Given the description of an element on the screen output the (x, y) to click on. 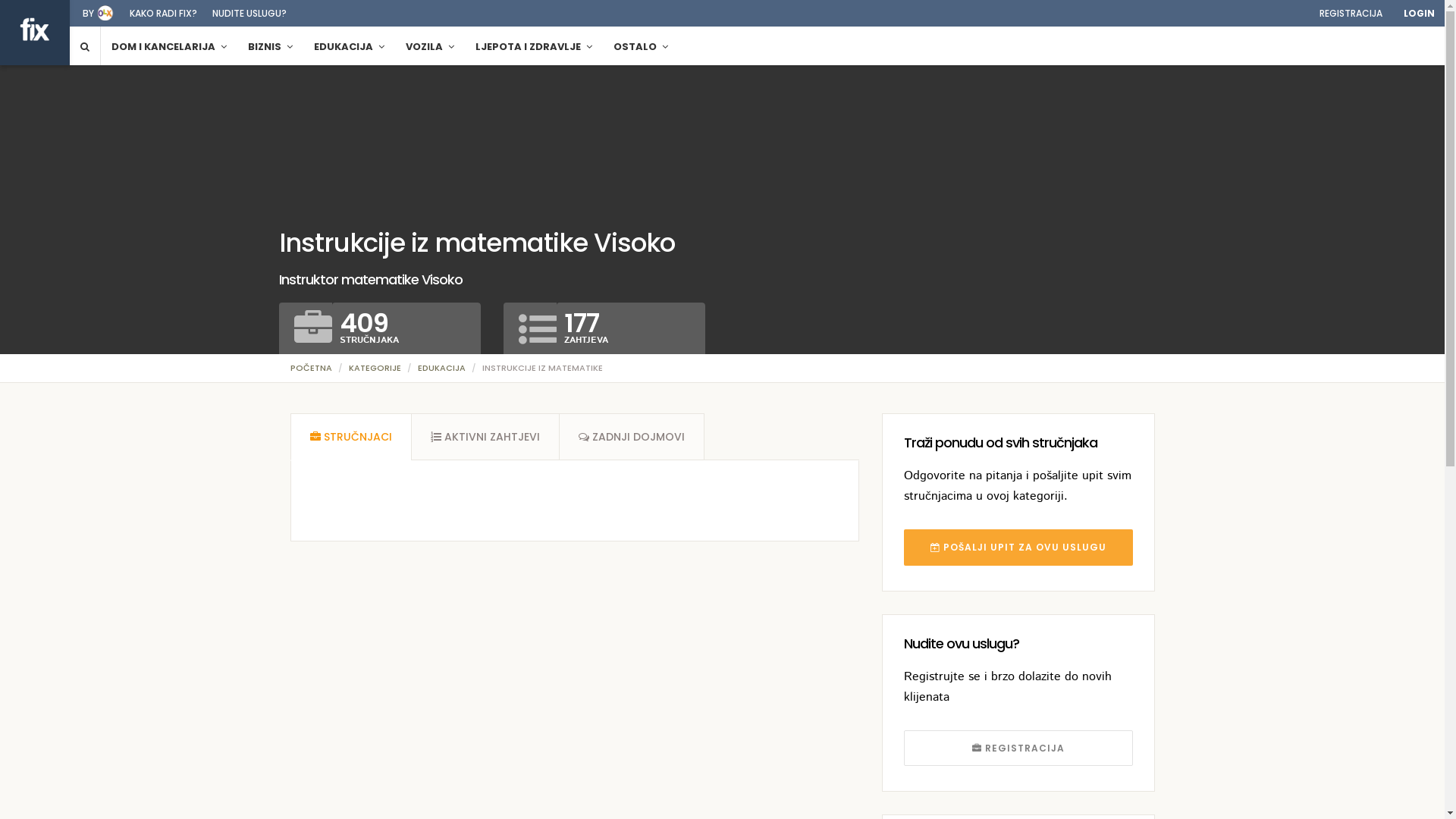
AKTIVNI ZAHTJEVI Element type: text (485, 436)
KATEGORIJE Element type: text (374, 367)
LOGIN Element type: text (1418, 12)
DOM I KANCELARIJA Element type: text (168, 45)
KAKO RADI FIX? Element type: text (163, 12)
REGISTRACIJA Element type: text (1350, 12)
ZADNJI DOJMOVI Element type: text (630, 436)
BIZNIS Element type: text (270, 45)
OSTALO Element type: text (640, 45)
BY Element type: text (88, 12)
NUDITE USLUGU? Element type: text (249, 12)
REGISTRACIJA Element type: text (1017, 747)
EDUKACIJA Element type: text (349, 45)
EDUKACIJA Element type: text (440, 367)
VOZILA Element type: text (429, 45)
LJEPOTA I ZDRAVLJE Element type: text (533, 45)
